Given the description of an element on the screen output the (x, y) to click on. 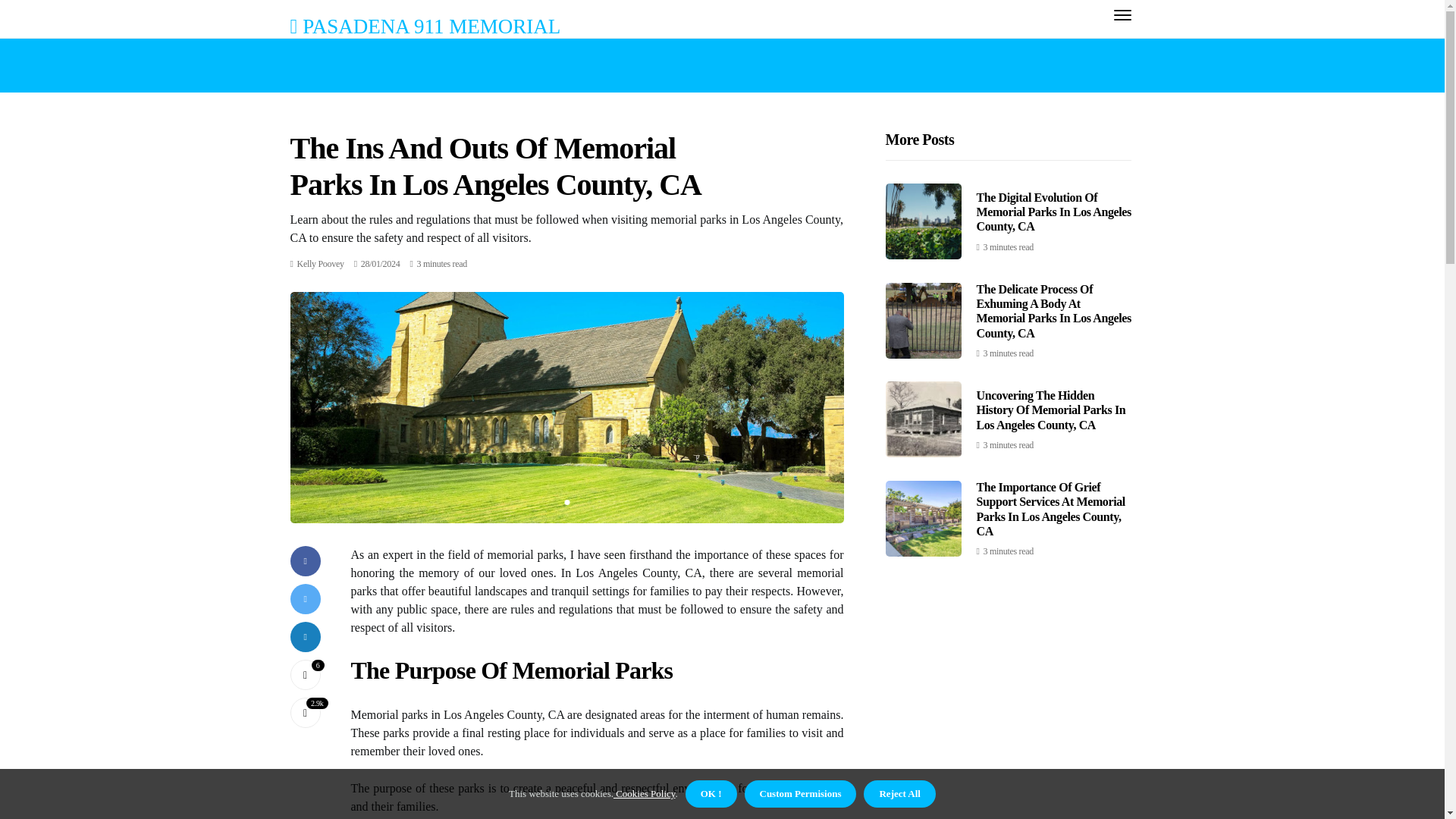
Like (304, 675)
PASADENA 911 MEMORIAL (424, 26)
Posts by Kelly Poovey (320, 263)
Kelly Poovey (320, 263)
6 (304, 675)
